Given the description of an element on the screen output the (x, y) to click on. 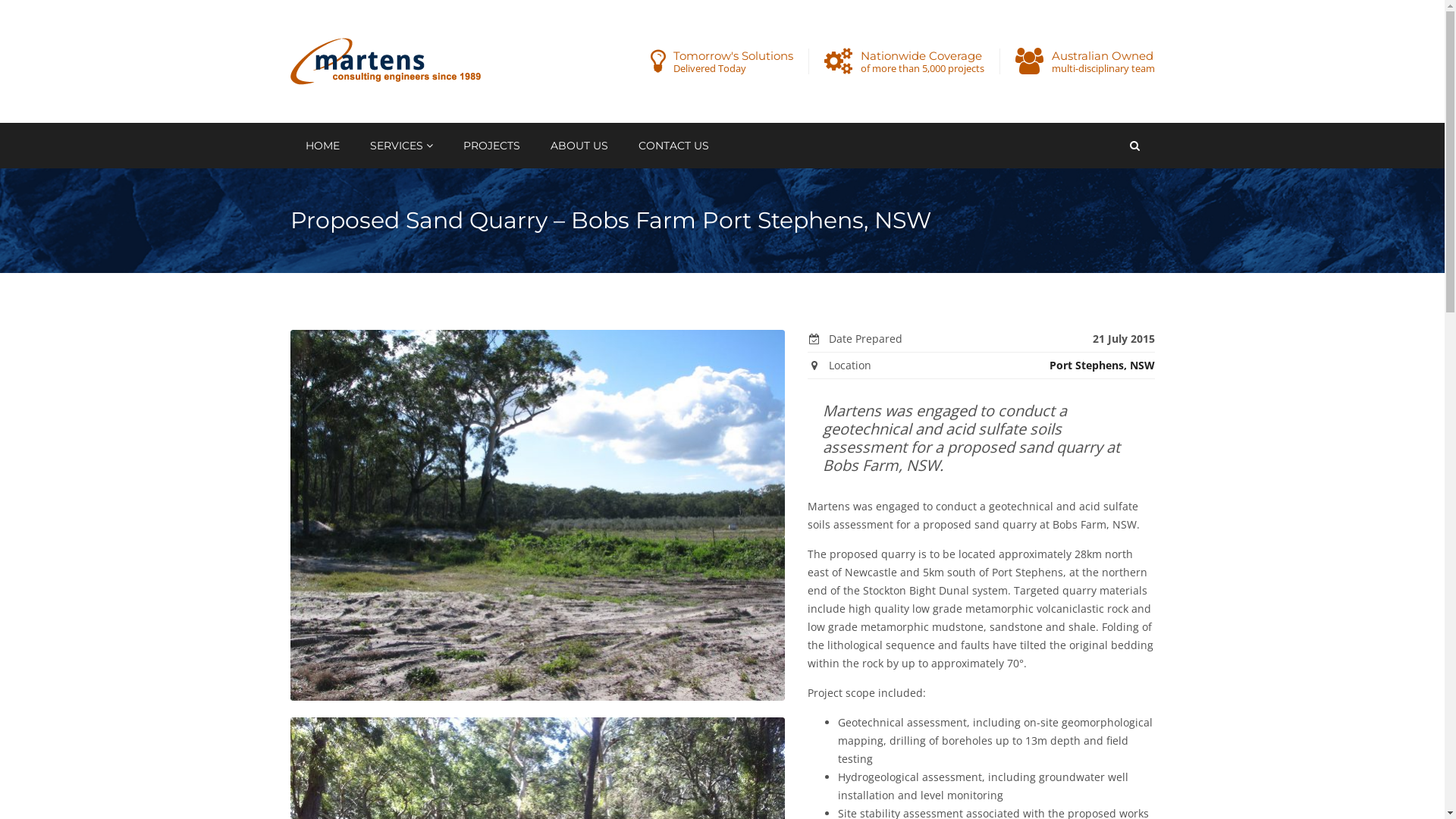
CONTACT US Element type: text (673, 145)
Port Stephens, NSW Element type: text (1101, 365)
PROJECTS Element type: text (490, 145)
HOME Element type: text (321, 145)
SERVICES Element type: text (401, 145)
ABOUT US Element type: text (579, 145)
